Given the description of an element on the screen output the (x, y) to click on. 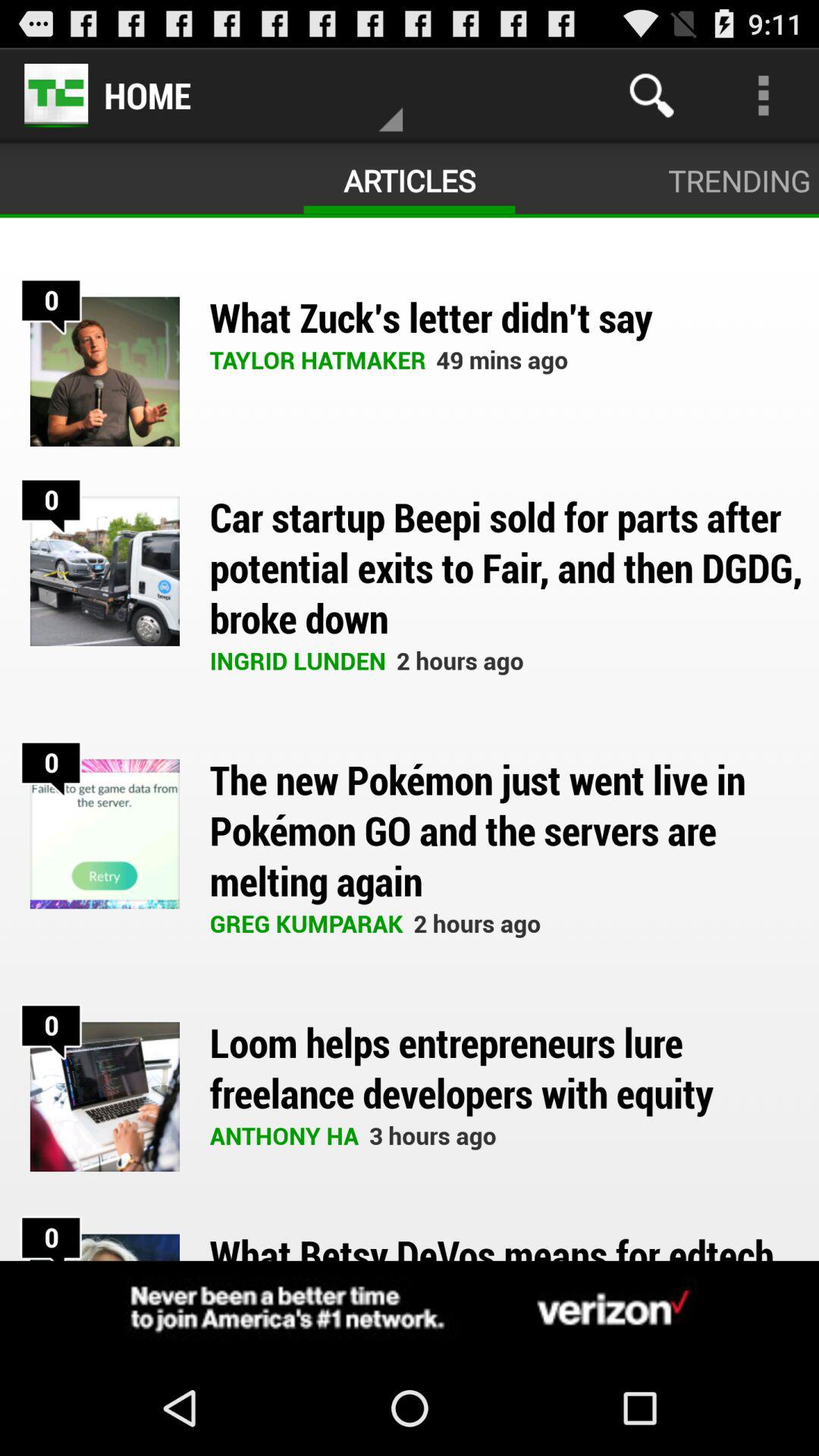
advertisement page (409, 1310)
